Given the description of an element on the screen output the (x, y) to click on. 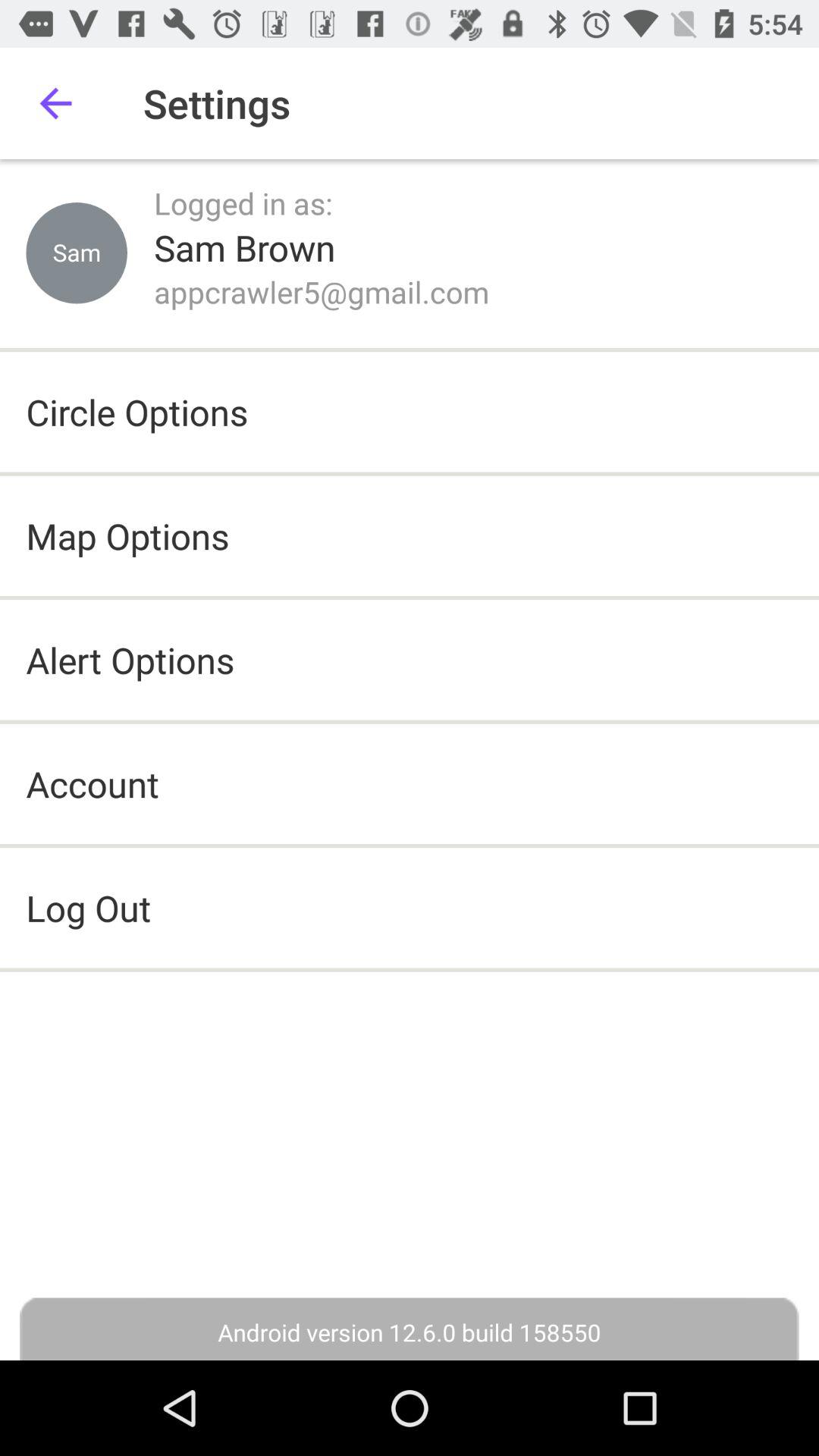
open the log out icon (409, 908)
